Given the description of an element on the screen output the (x, y) to click on. 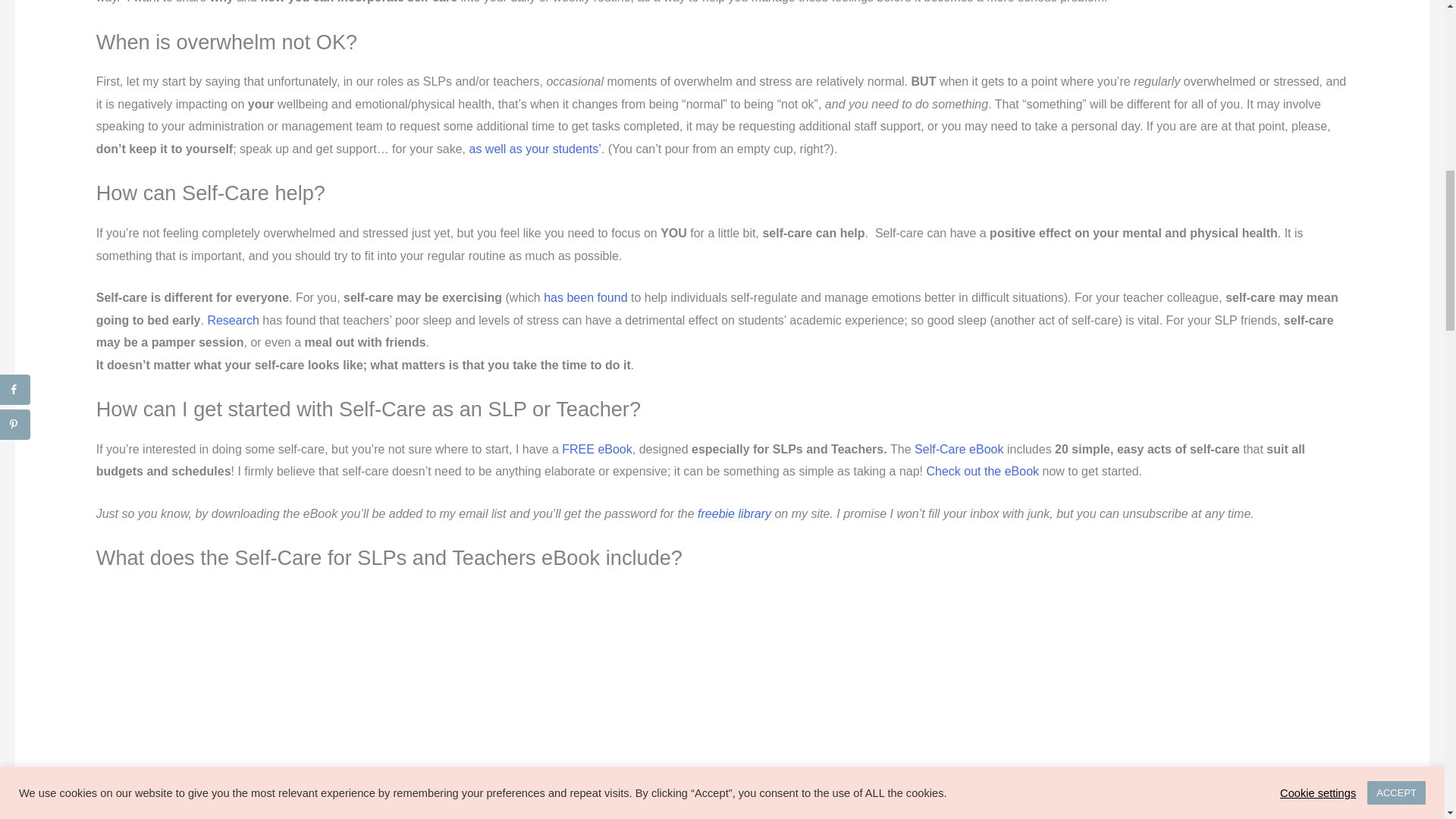
has been found (585, 297)
